Given the description of an element on the screen output the (x, y) to click on. 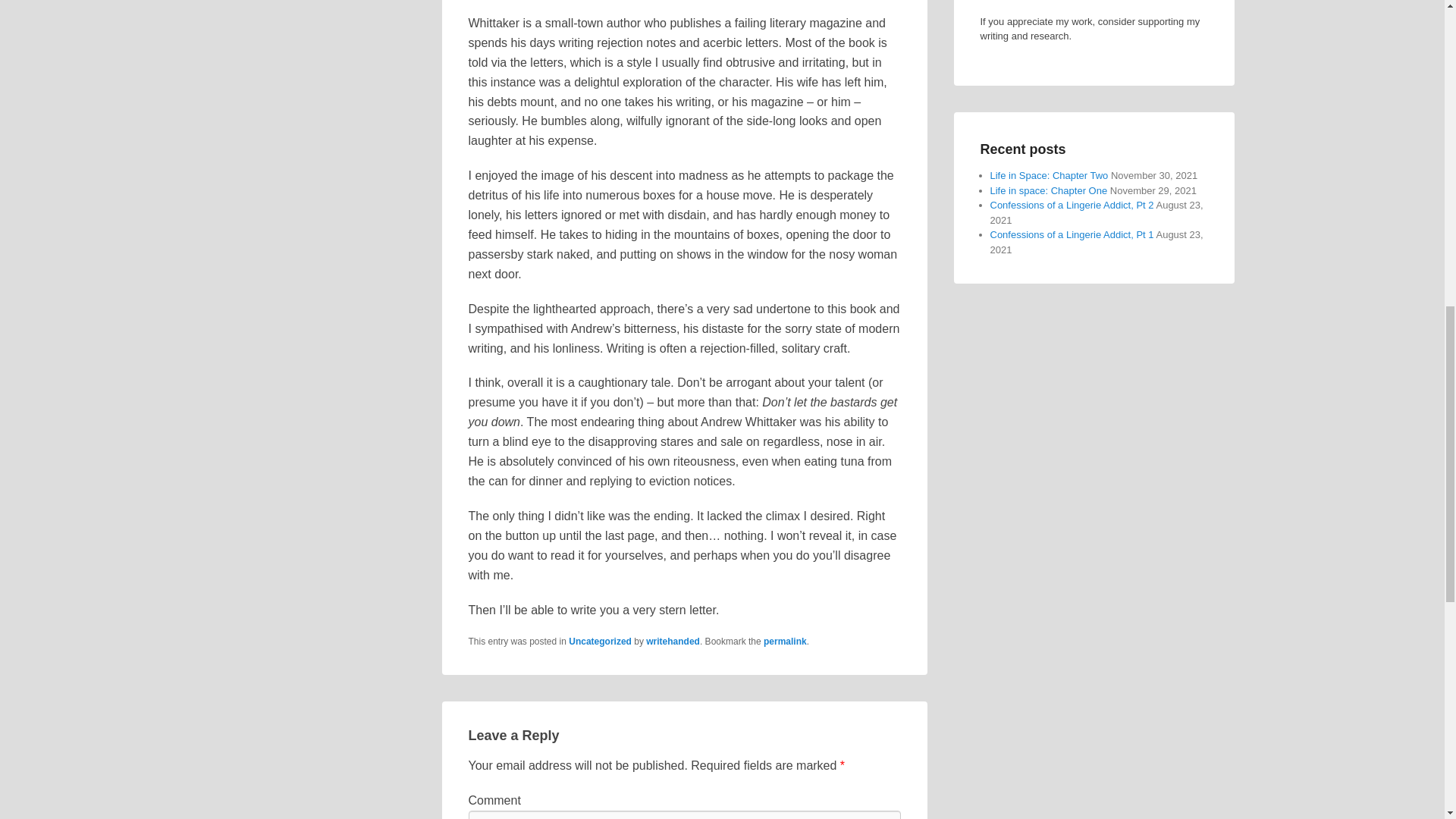
writehanded (673, 641)
Uncategorized (600, 641)
Permalink to The cry of the sloth (784, 641)
Life in space: Chapter One (1049, 190)
Life in Space: Chapter Two (1049, 174)
permalink (784, 641)
Confessions of a Lingerie Addict, Pt 2 (1072, 204)
Confessions of a Lingerie Addict, Pt 1 (1072, 234)
